Given the description of an element on the screen output the (x, y) to click on. 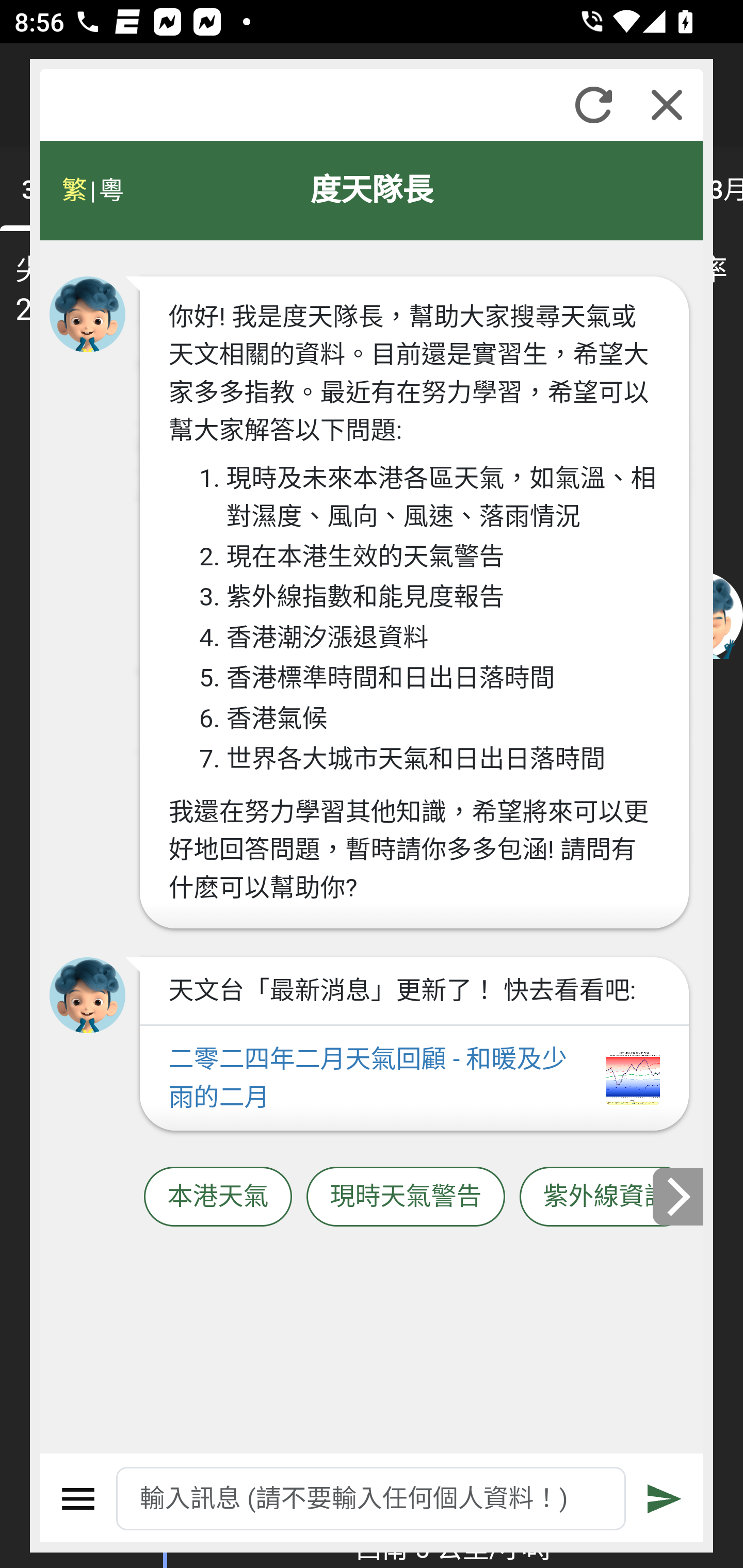
重新整理 (593, 104)
關閉 (666, 104)
繁 (73, 190)
粵 (110, 190)
二零二四年二月天氣回顧 - 和暖及少雨的二月 (413, 1078)
本港天氣 (217, 1196)
現時天氣警告 (405, 1196)
紫外線資訊 (605, 1196)
下一張 (678, 1196)
選單 (78, 1498)
遞交 (665, 1498)
